Given the description of an element on the screen output the (x, y) to click on. 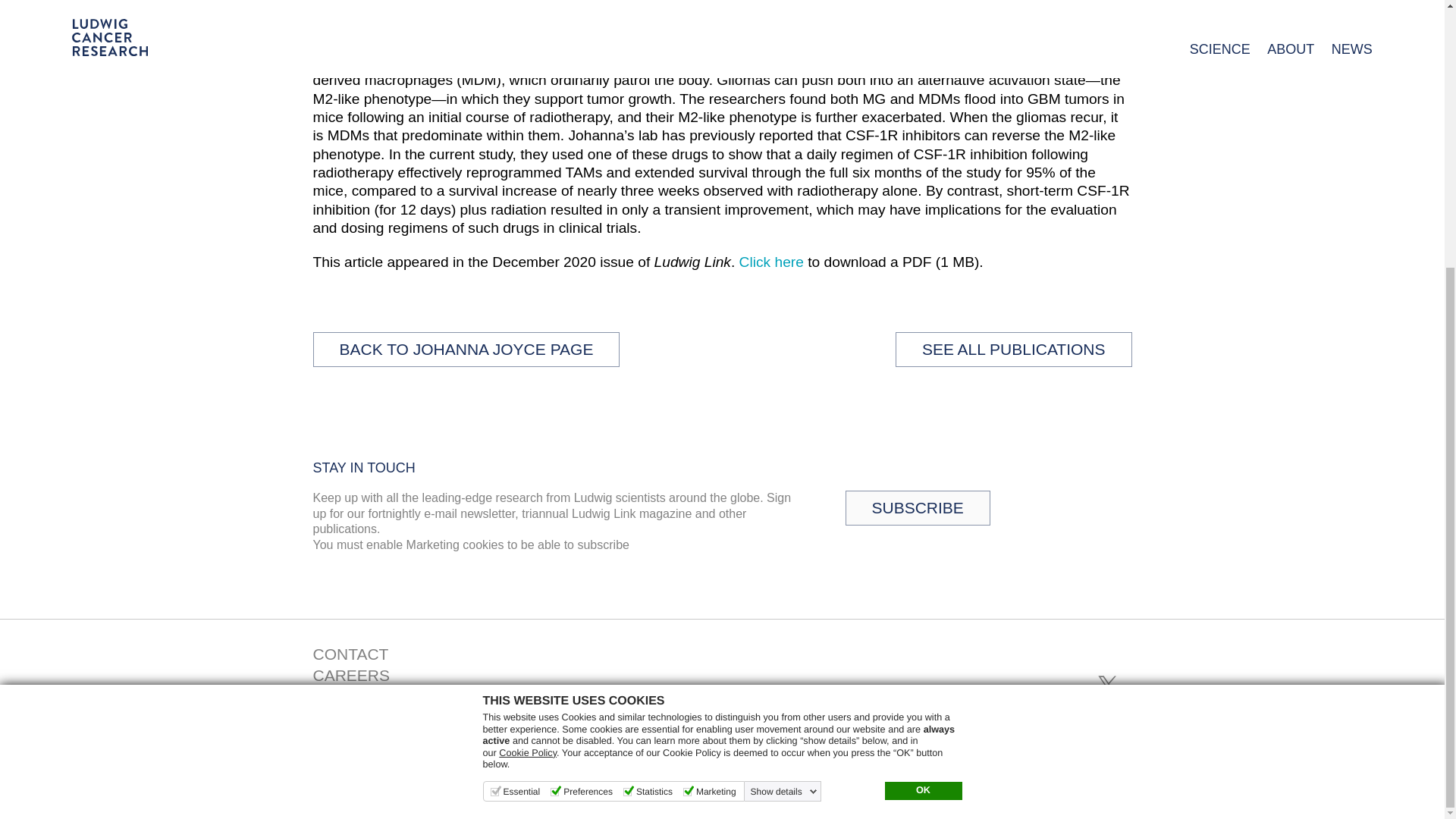
OK (921, 402)
Show details (784, 402)
Cookie Policy (527, 363)
Cookie Policy (527, 363)
